Given the description of an element on the screen output the (x, y) to click on. 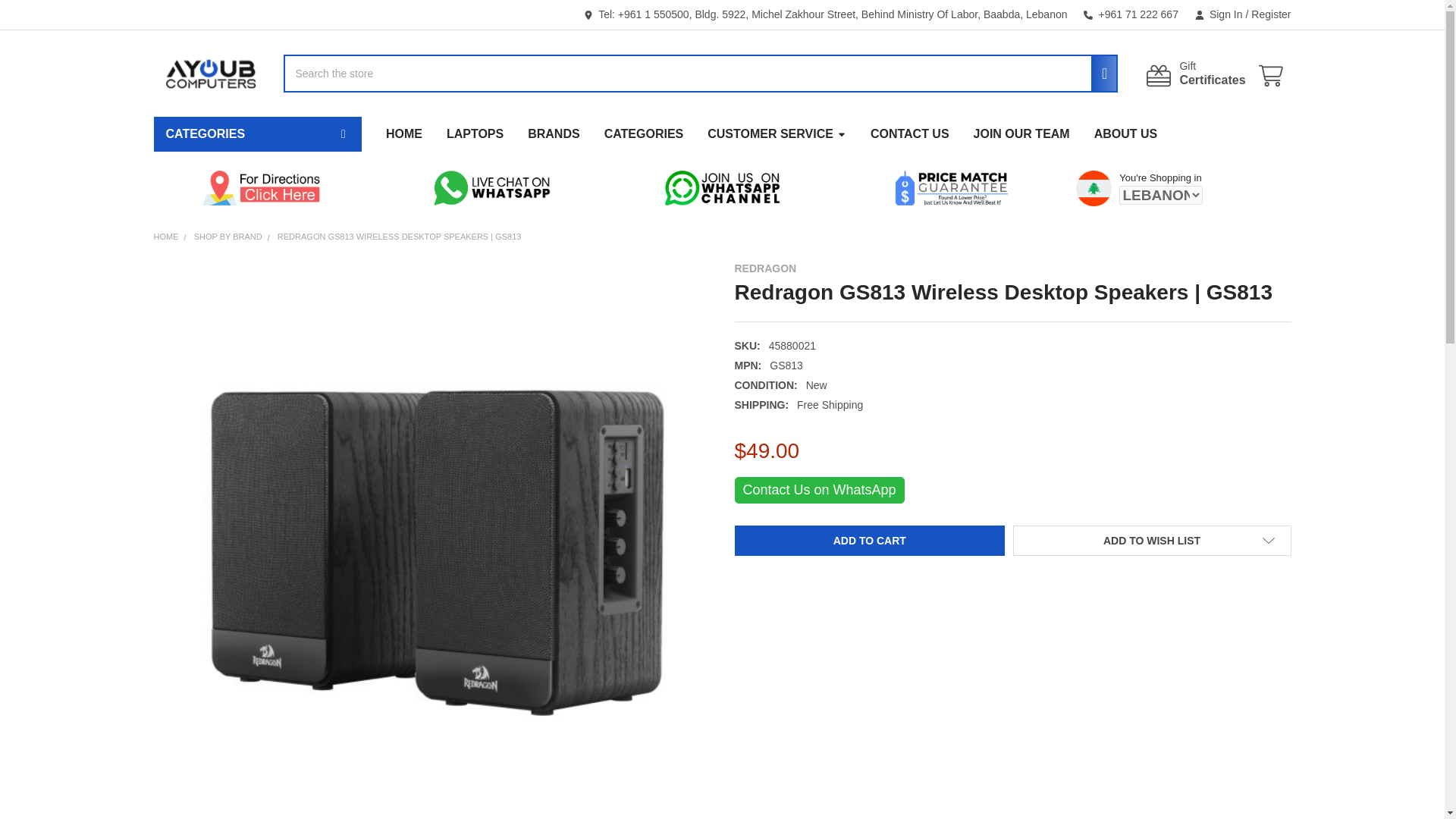
Add to Cart (868, 540)
Register (1194, 73)
CATEGORIES (1266, 14)
Sign In (256, 134)
Search (1218, 14)
AYOUB COMPUTERS (1099, 73)
Cart (209, 73)
Gift Certificates (1273, 75)
Search (1194, 73)
